Given the description of an element on the screen output the (x, y) to click on. 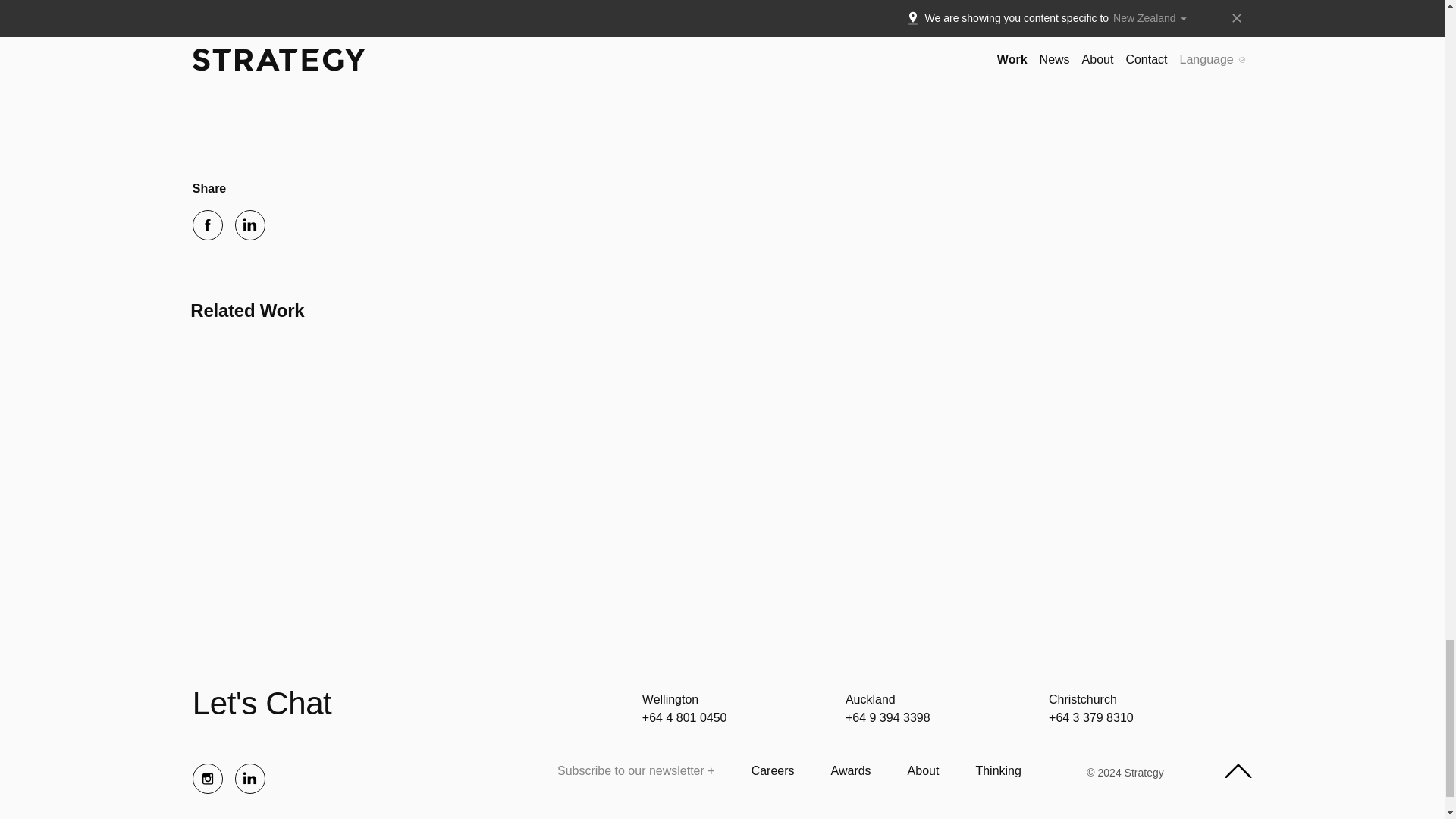
Wellington (670, 699)
Auckland (870, 699)
Christchurch (1082, 699)
